Given the description of an element on the screen output the (x, y) to click on. 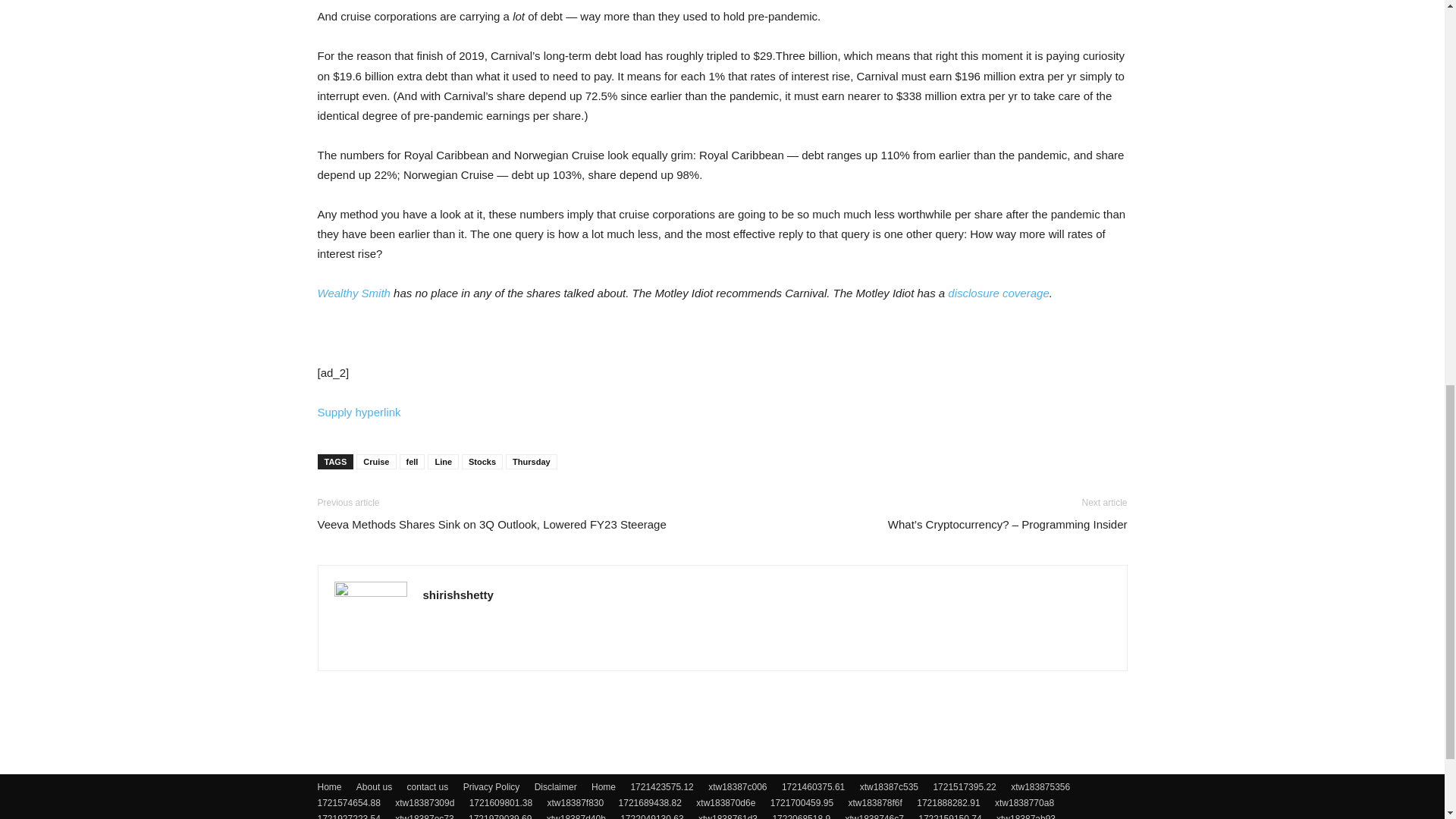
Cruise (376, 461)
fell (411, 461)
Stocks (481, 461)
Line (443, 461)
disclosure coverage (997, 292)
Supply hyperlink (358, 411)
Wealthy Smith (353, 292)
Thursday (531, 461)
